Given the description of an element on the screen output the (x, y) to click on. 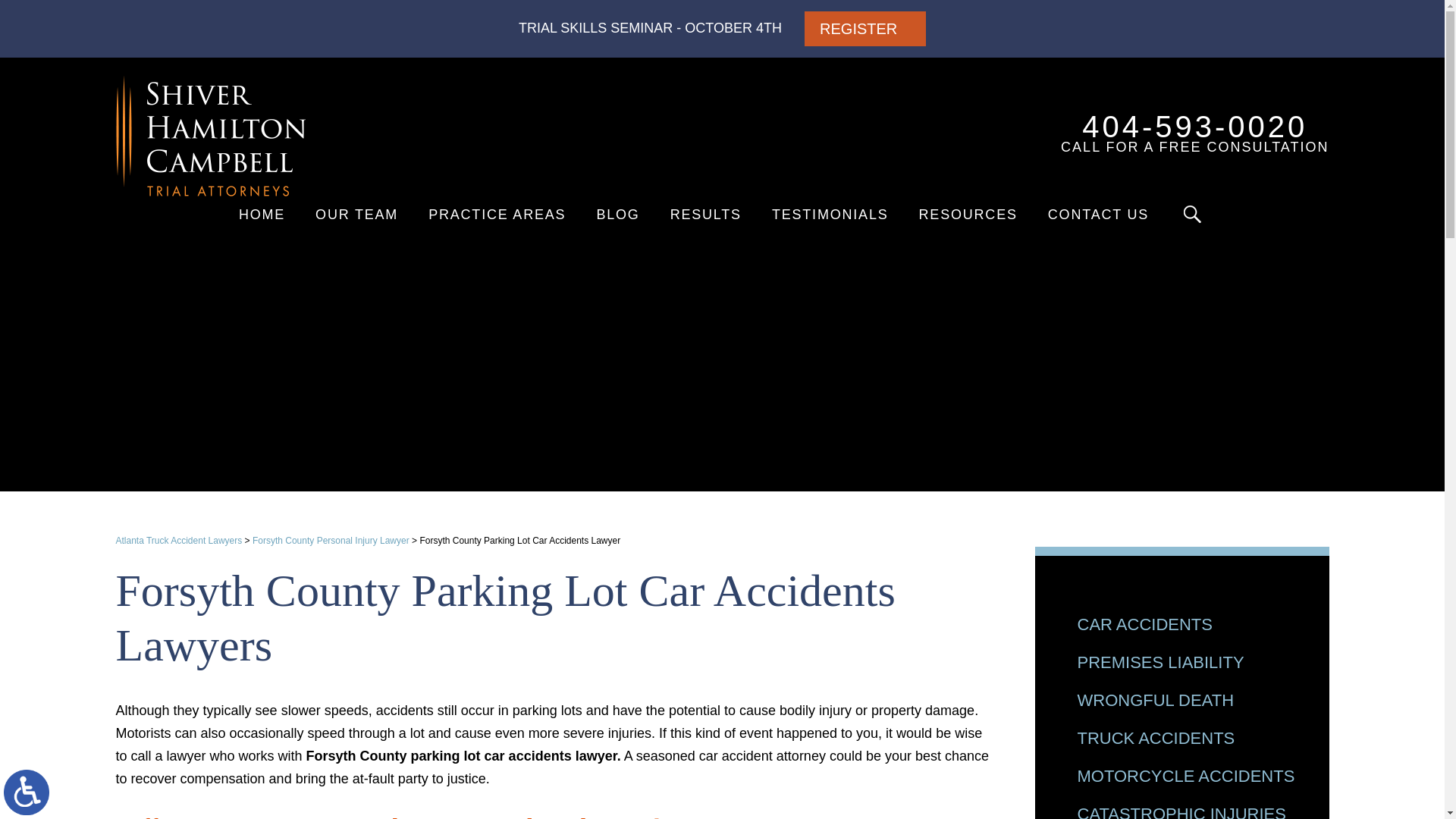
Switch to ADA Accessible Theme (1165, 131)
PRACTICE AREAS (26, 791)
REGISTER (496, 213)
OUR TEAM (865, 28)
HOME (356, 213)
